Given the description of an element on the screen output the (x, y) to click on. 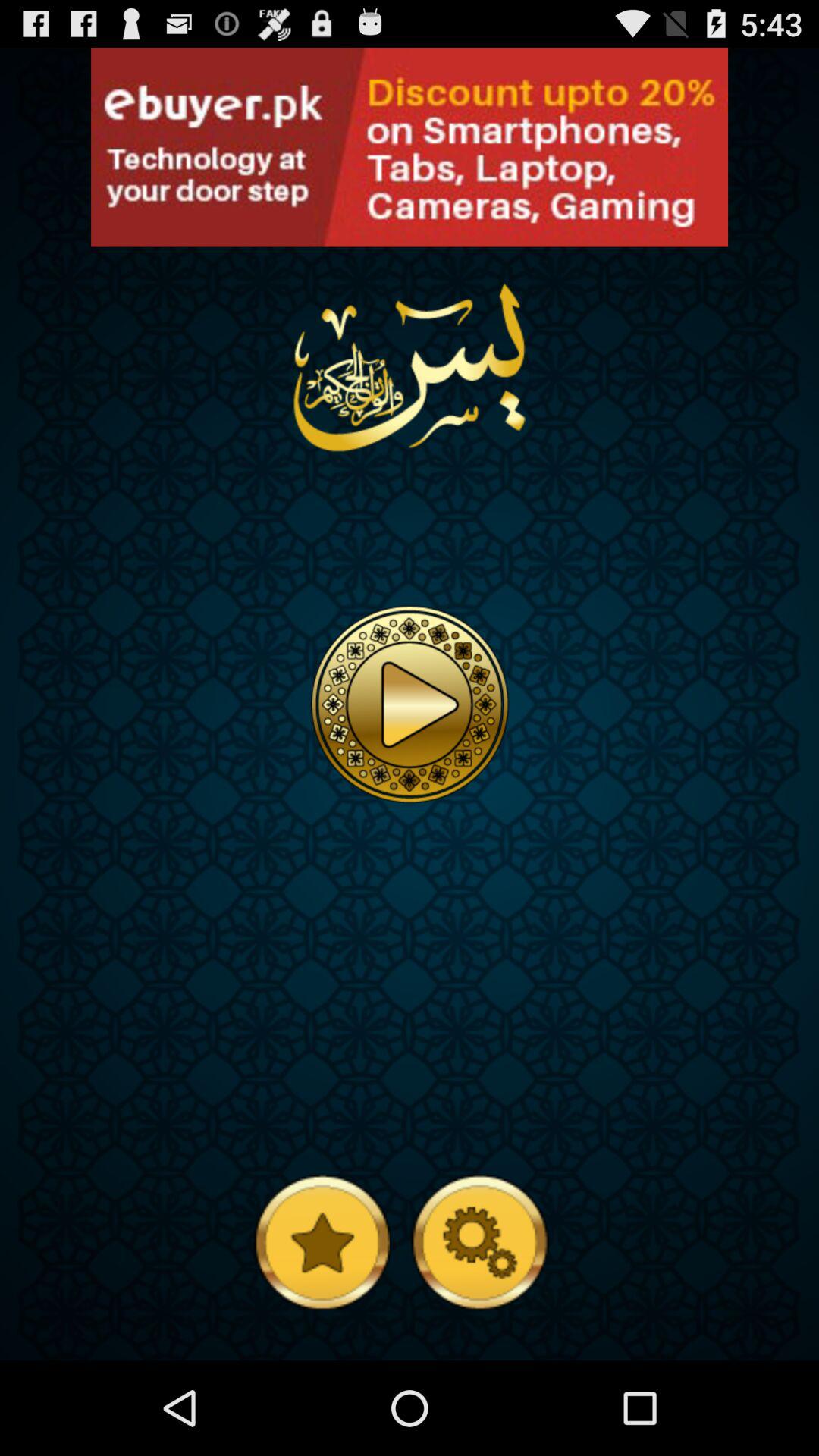
config (478, 1240)
